Given the description of an element on the screen output the (x, y) to click on. 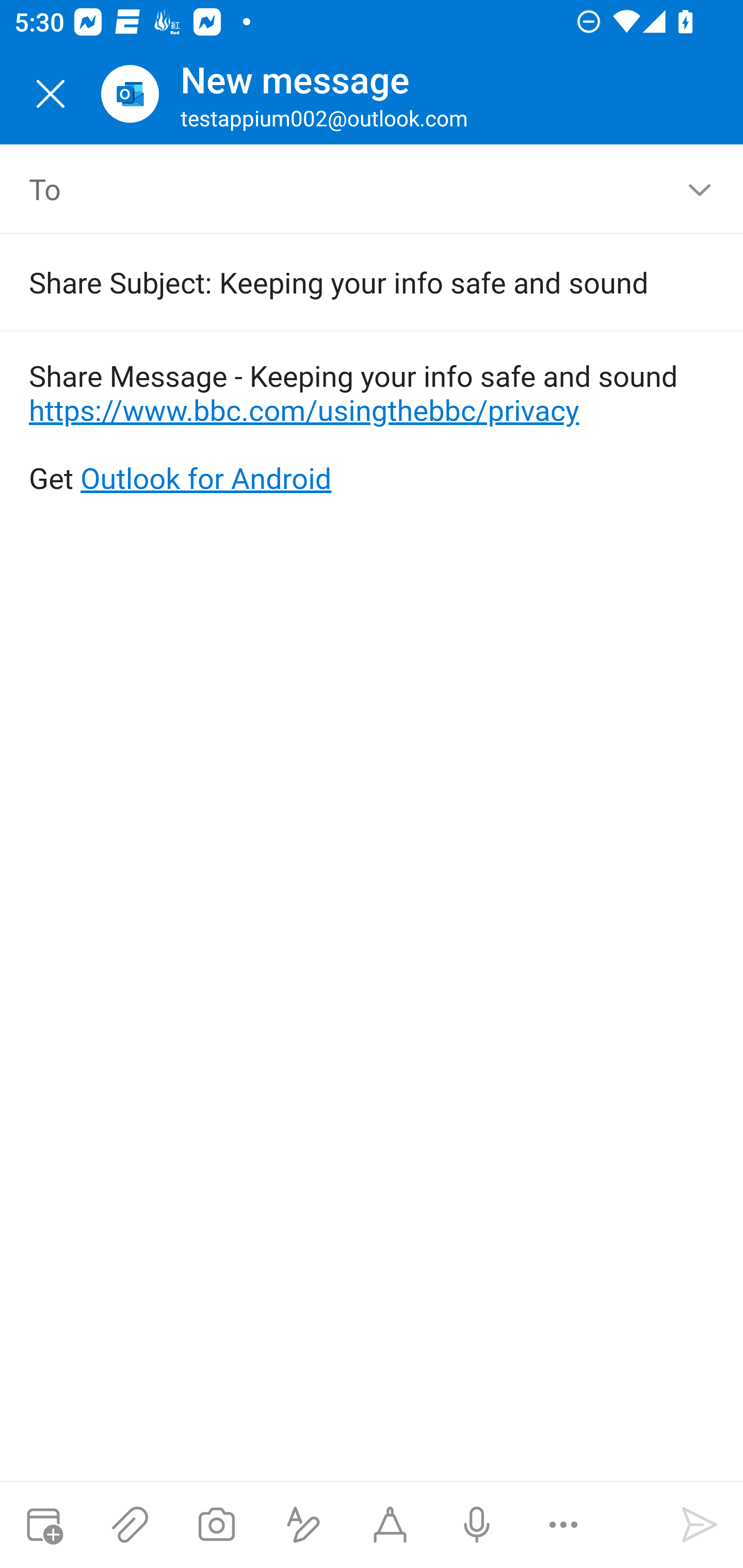
Close (50, 93)
Share Subject: Keeping your info safe and sound (342, 281)
Attach meeting (43, 1524)
Attach files (129, 1524)
Take a photo (216, 1524)
Show formatting options (303, 1524)
Start Ink compose (389, 1524)
Dictation (476, 1524)
More options (563, 1524)
Send (699, 1524)
